Given the description of an element on the screen output the (x, y) to click on. 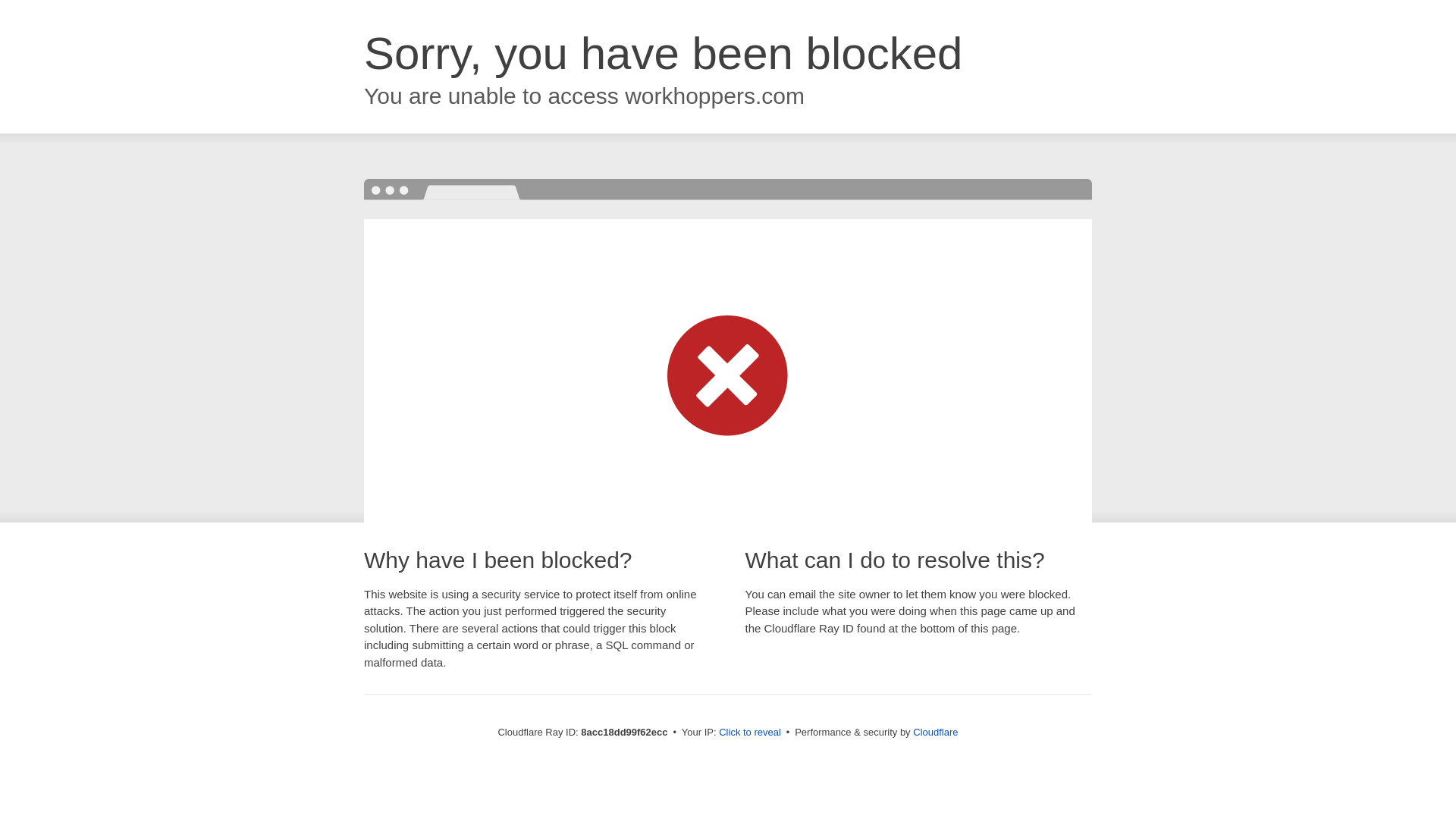
Cloudflare (935, 731)
Click to reveal (749, 732)
